Given the description of an element on the screen output the (x, y) to click on. 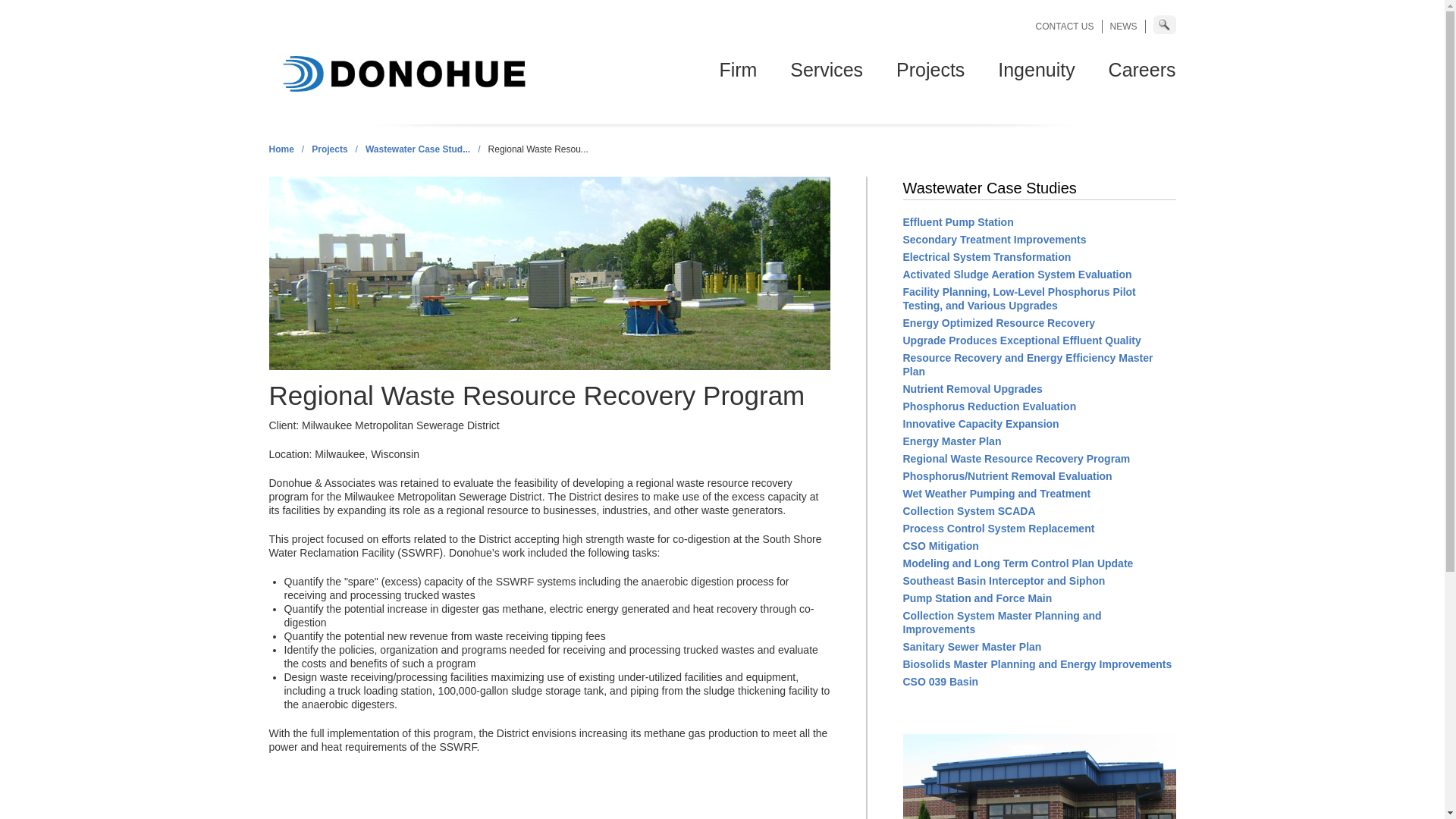
Projects (930, 69)
Services (826, 69)
NEWS (1123, 26)
Go to the Upgrade Produces Exceptional Effluent Quality page (1021, 340)
Services (826, 69)
Projects (930, 69)
Careers (1139, 69)
Ingenuity (1035, 69)
